Given the description of an element on the screen output the (x, y) to click on. 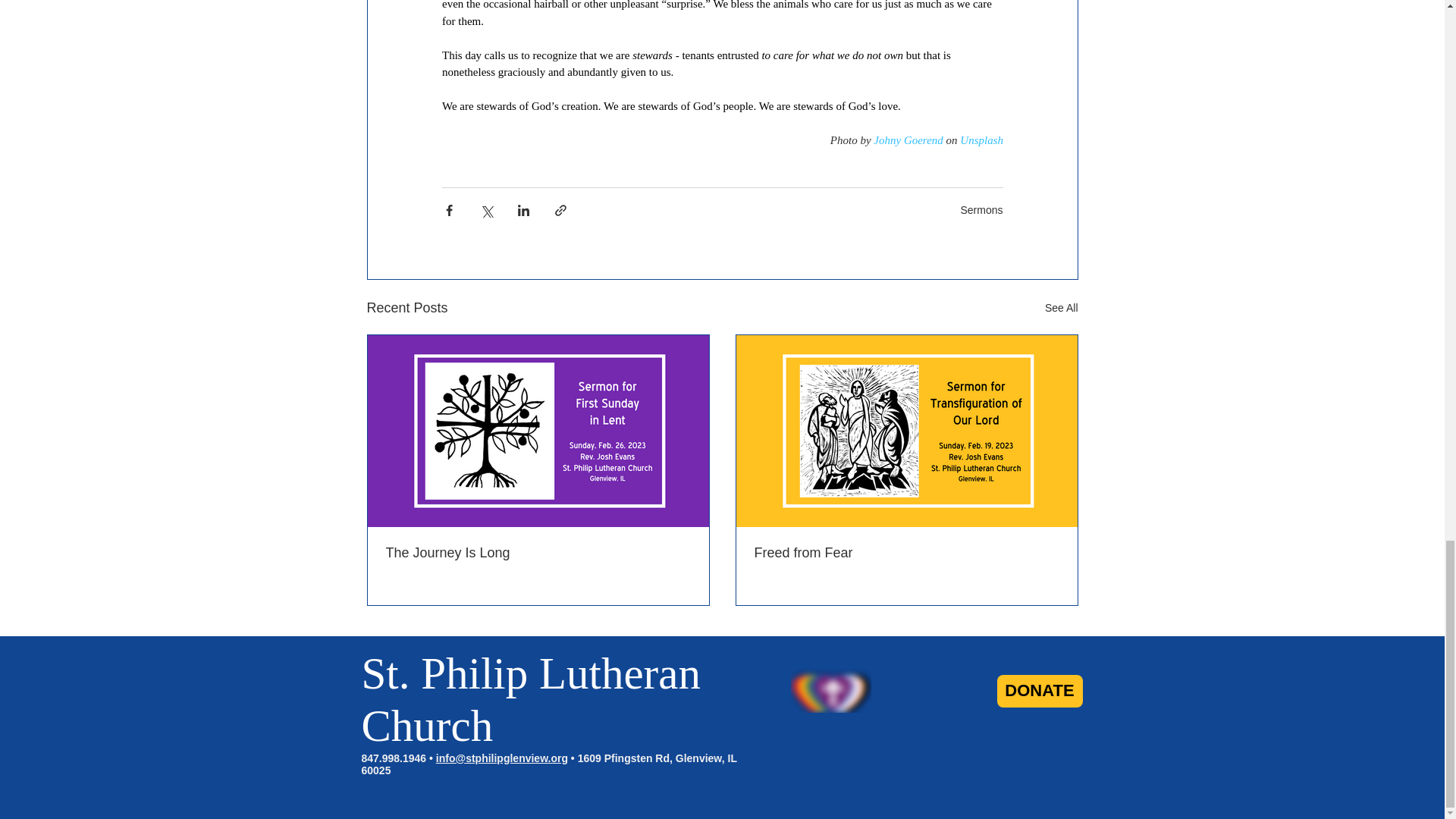
See All (1061, 308)
Sermons (981, 209)
Johny Goerend (908, 140)
Unsplash (981, 140)
